Given the description of an element on the screen output the (x, y) to click on. 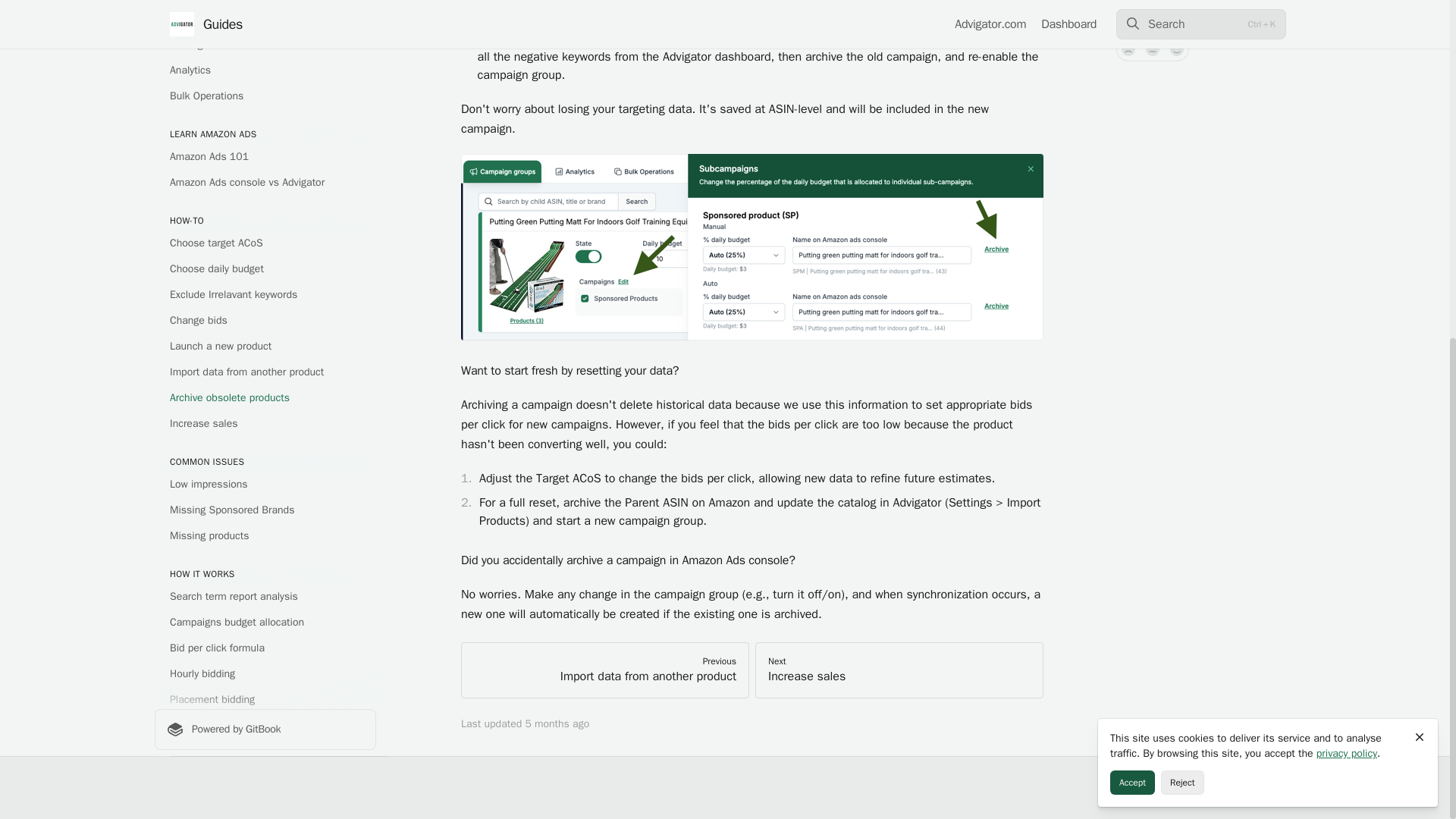
Missing products (264, 21)
Search term report analysis (264, 82)
Missing Sponsored Brands (264, 4)
Hourly bidding (264, 159)
Stop keyword research (264, 323)
Powered by GitBook (264, 214)
Placement bidding (264, 185)
Agency billing strategies (264, 349)
Bid per click formula (264, 134)
Overwritten changes (264, 272)
